Given the description of an element on the screen output the (x, y) to click on. 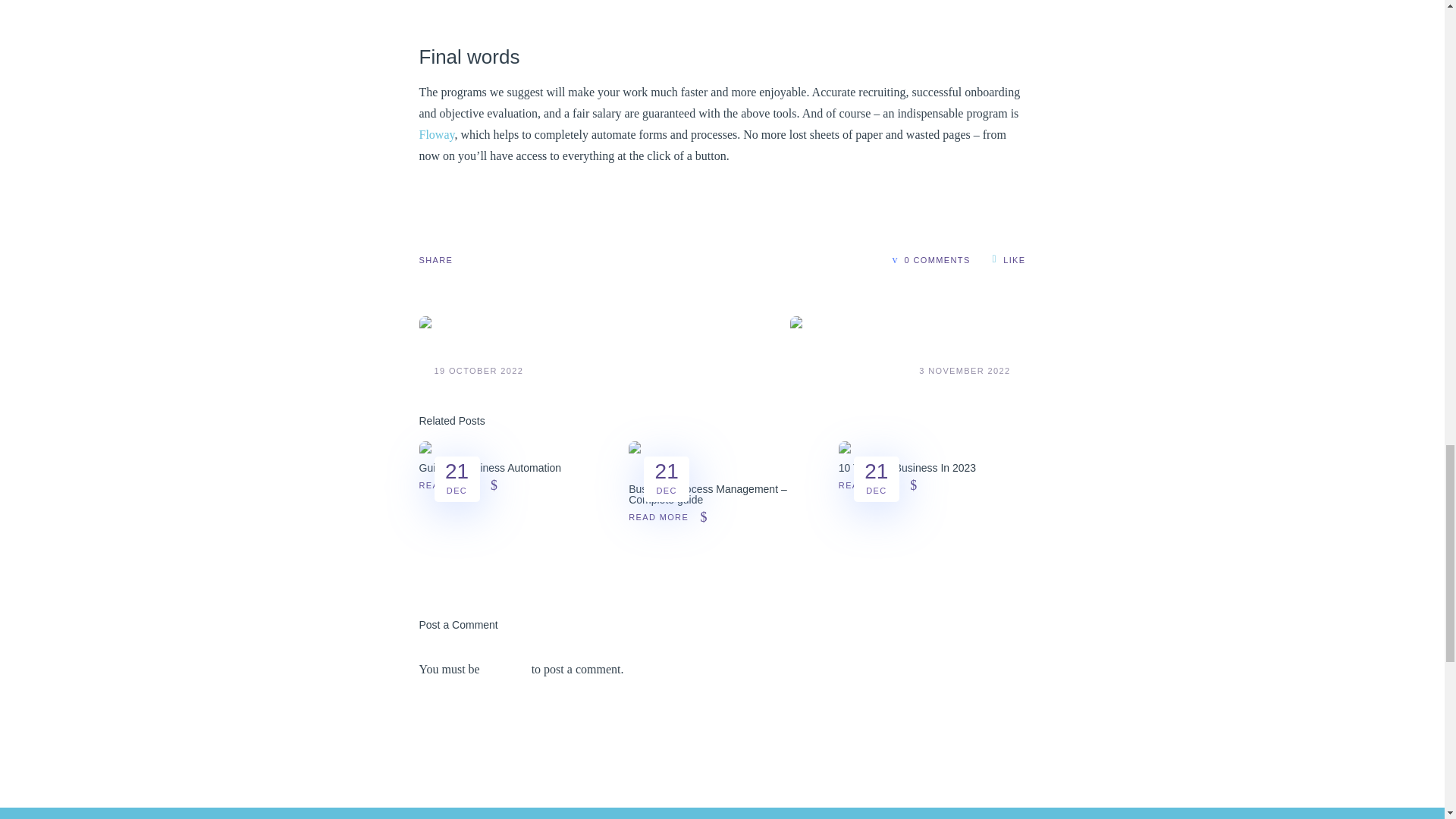
10 Tips For Business In 2023 (917, 451)
Guide to Business Automation (499, 451)
Like this (1009, 258)
Guide to Business Automation (489, 467)
10 Tips For Business In 2023 (906, 467)
